Given the description of an element on the screen output the (x, y) to click on. 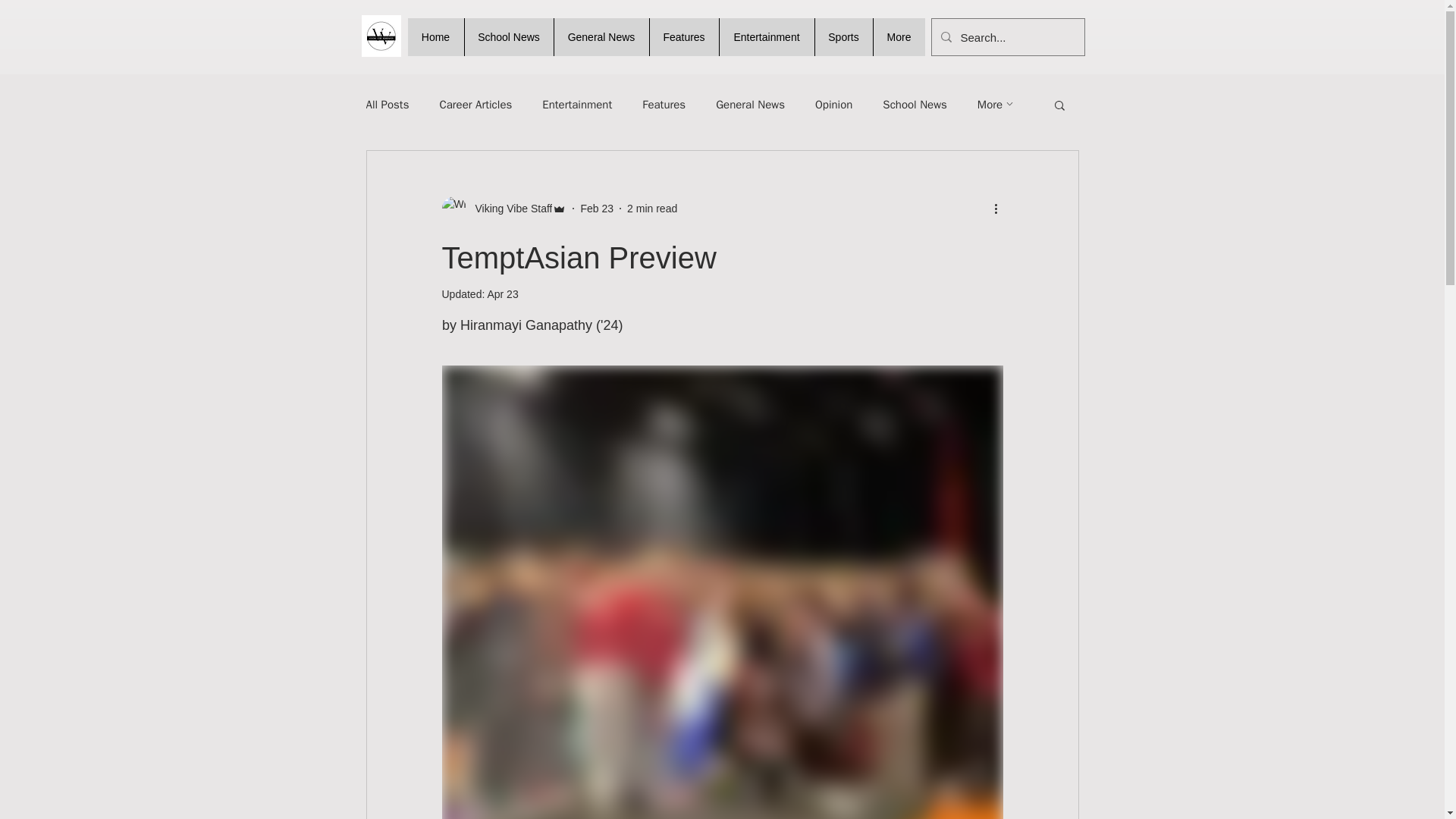
All Posts (387, 104)
School News (508, 37)
2 min read (652, 207)
Feb 23 (595, 207)
Sports (842, 37)
Viking Vibe Staff (508, 207)
Features (663, 104)
Viking Vibe Staff (503, 208)
Opinion (833, 104)
Apr 23 (502, 294)
